Given the description of an element on the screen output the (x, y) to click on. 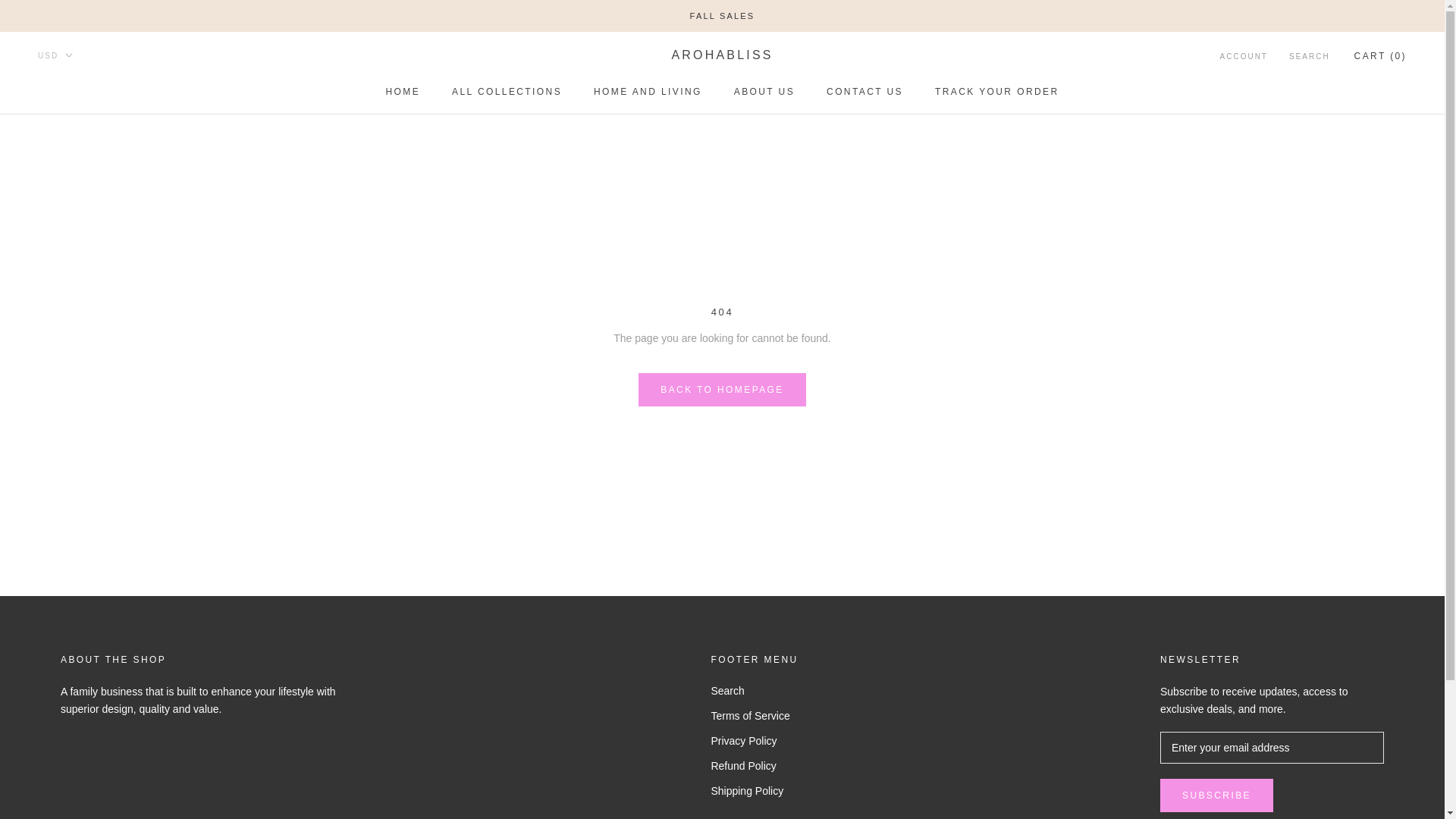
SUBSCRIBE (402, 91)
Refund Policy (1216, 795)
SEARCH (753, 765)
BACK TO HOMEPAGE (1309, 56)
FALL SALES (722, 389)
ACCOUNT (763, 91)
Terms of Service (722, 15)
Privacy Policy (1244, 56)
